Given the description of an element on the screen output the (x, y) to click on. 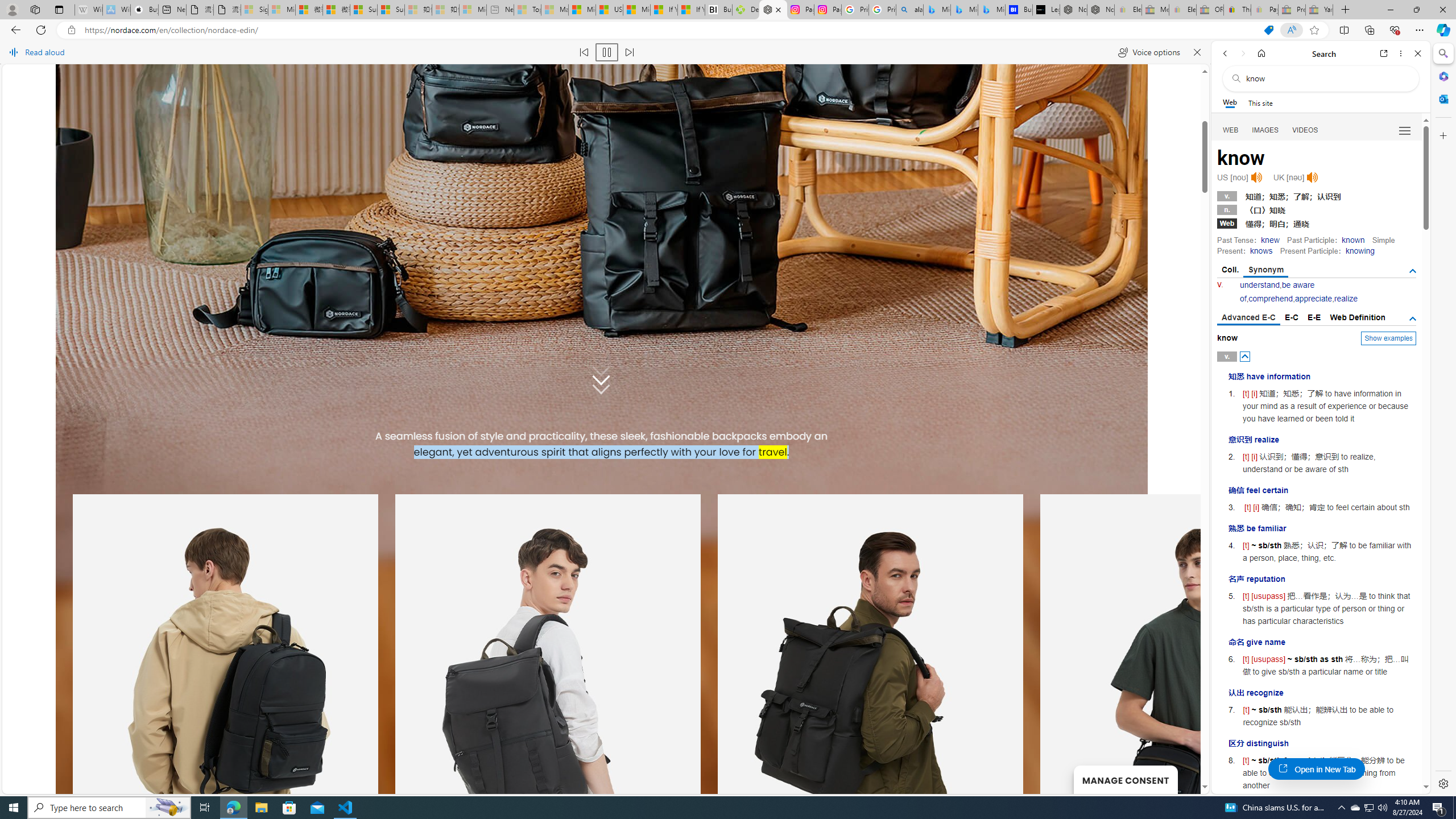
Read previous paragraph (583, 52)
Web Definition (1357, 317)
knows (1260, 250)
knew (1269, 239)
Microsoft Bing Travel - Shangri-La Hotel Bangkok (991, 9)
comprehend (1269, 298)
knowing (1359, 250)
